Given the description of an element on the screen output the (x, y) to click on. 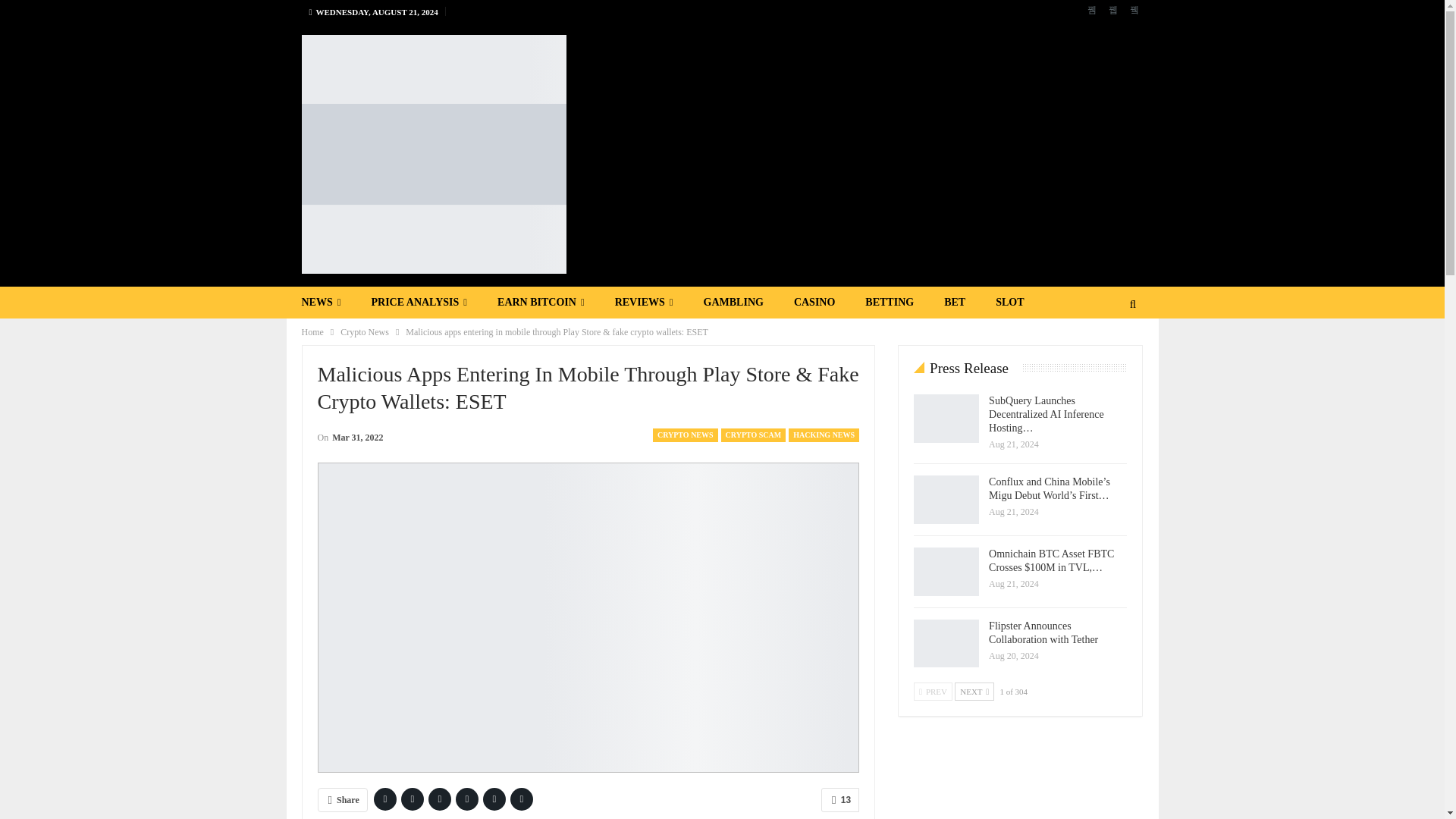
NEWS (321, 302)
REVIEWS (643, 302)
EARN BITCOIN (540, 302)
PRICE ANALYSIS (418, 302)
